Given the description of an element on the screen output the (x, y) to click on. 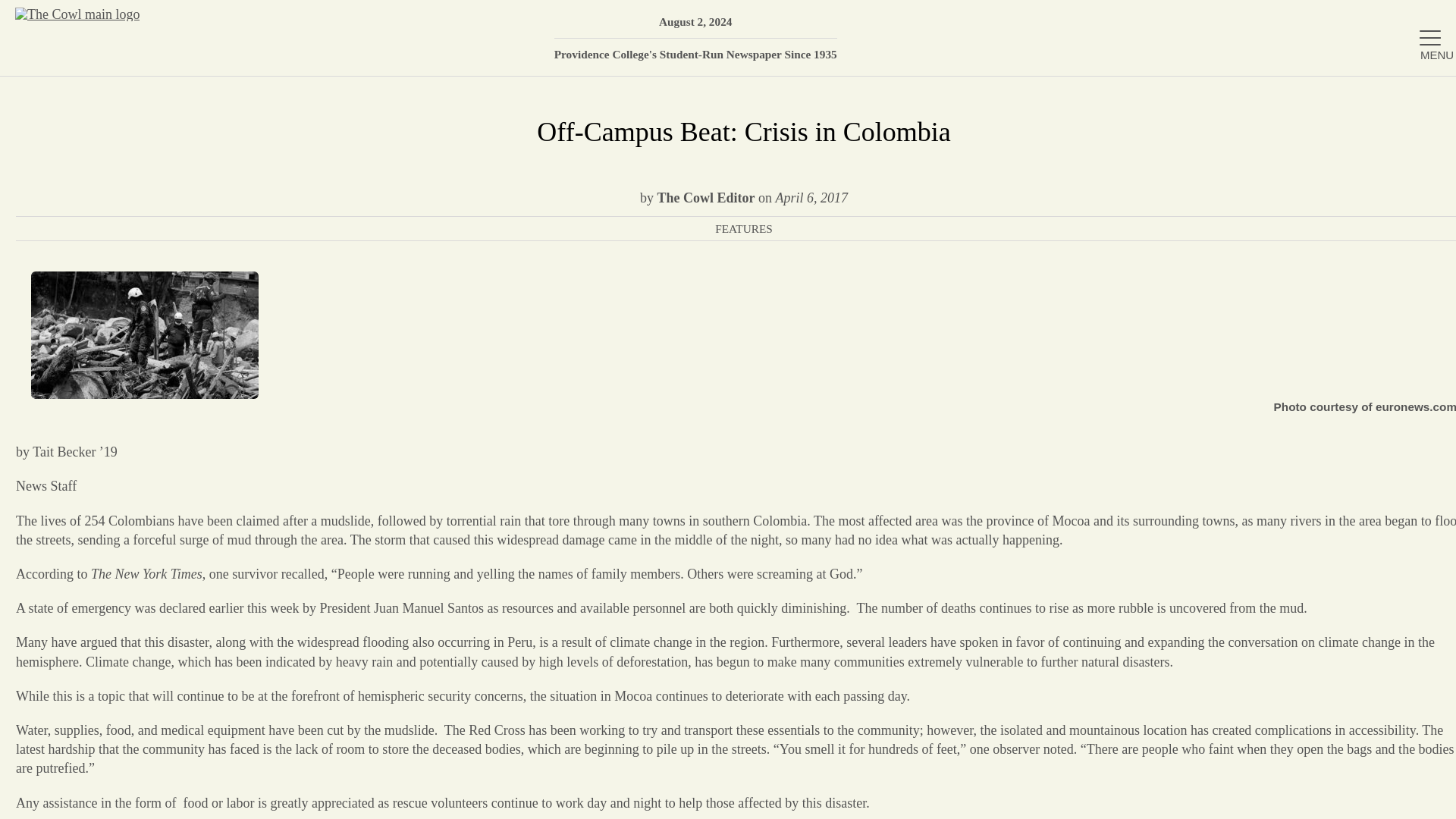
Search (1422, 19)
Opinion (1275, 272)
About Us (1275, 124)
Home (1275, 74)
Search (1422, 19)
Portfolio (1275, 321)
Search (1422, 19)
News (1275, 174)
Letters to the Editor (1275, 420)
Sports (1275, 370)
